Given the description of an element on the screen output the (x, y) to click on. 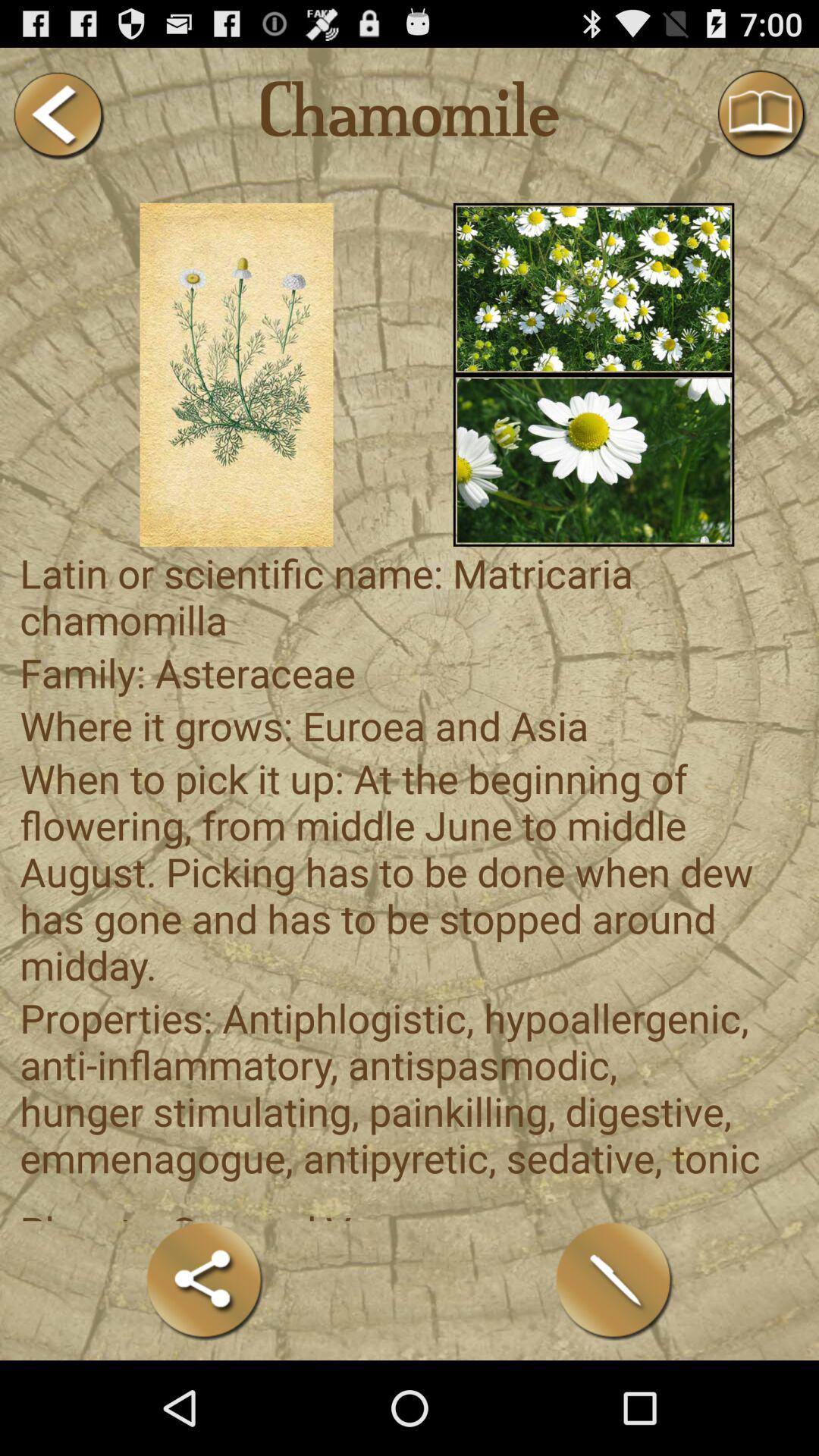
turn off the item at the bottom left corner (204, 1280)
